Given the description of an element on the screen output the (x, y) to click on. 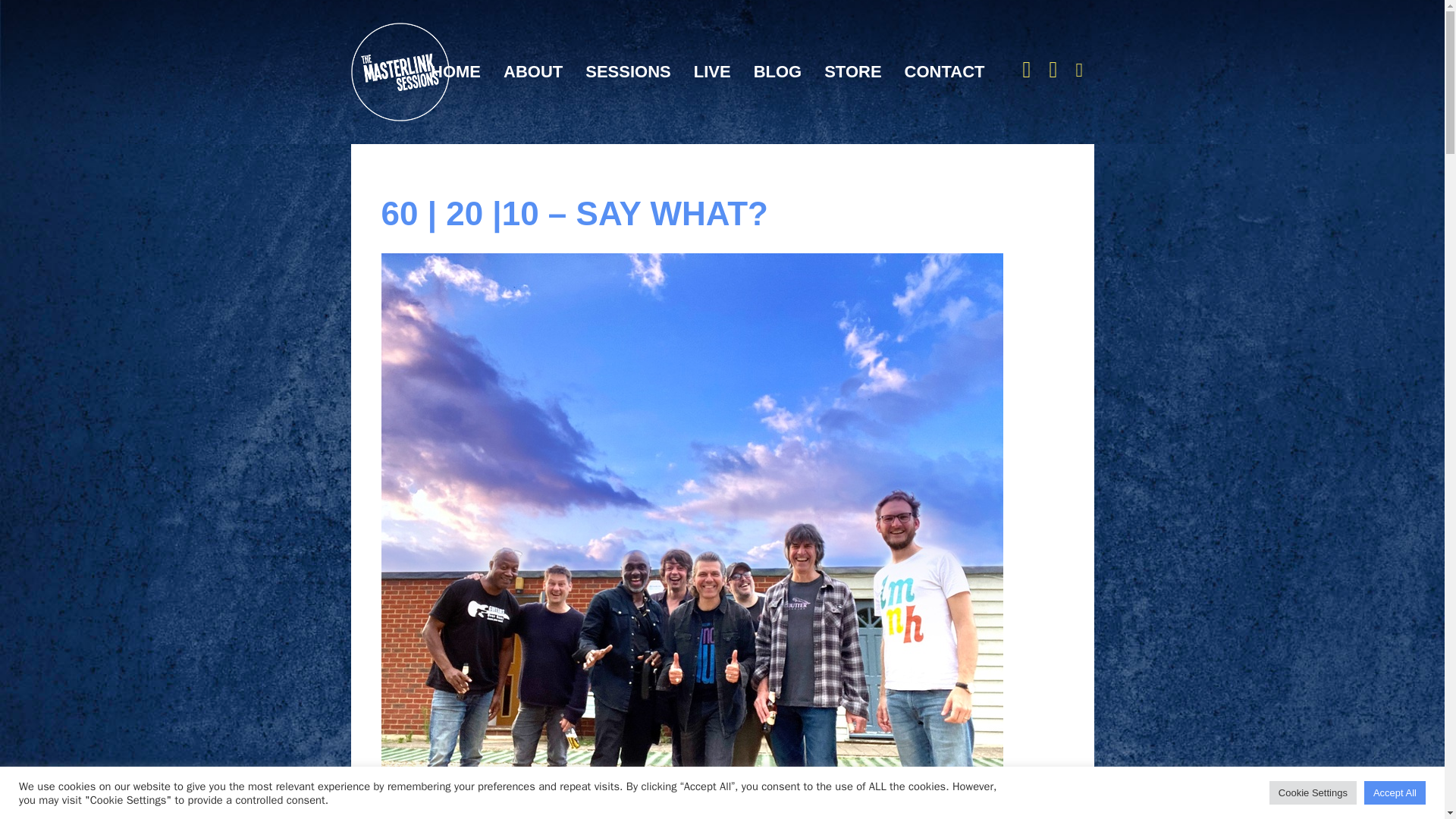
CONTACT (944, 71)
STORE (852, 71)
SESSIONS (627, 71)
HOME (455, 71)
LIVE (712, 71)
BLOG (777, 71)
ABOUT (532, 71)
